Given the description of an element on the screen output the (x, y) to click on. 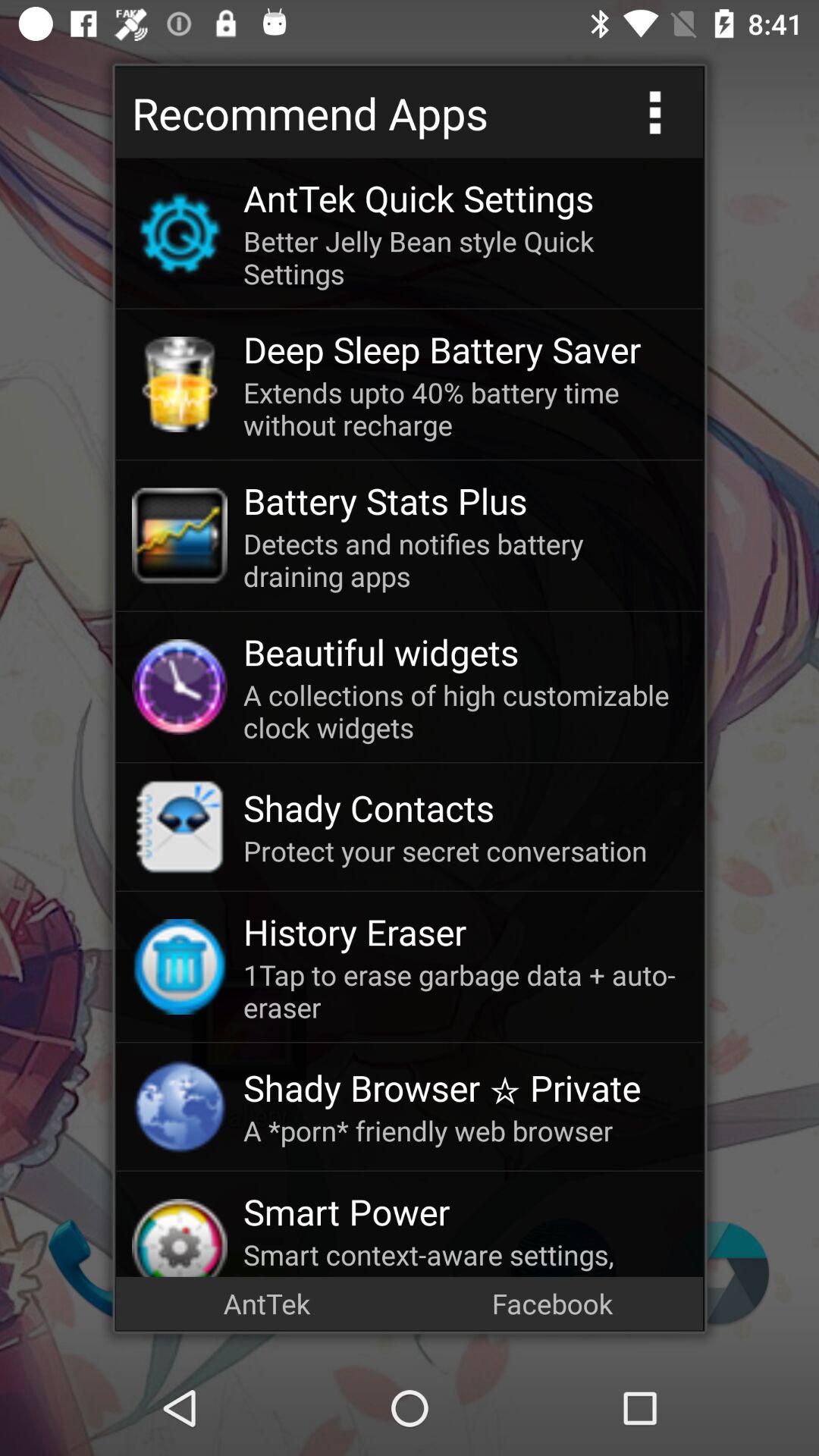
launch app below smart power app (465, 1255)
